Given the description of an element on the screen output the (x, y) to click on. 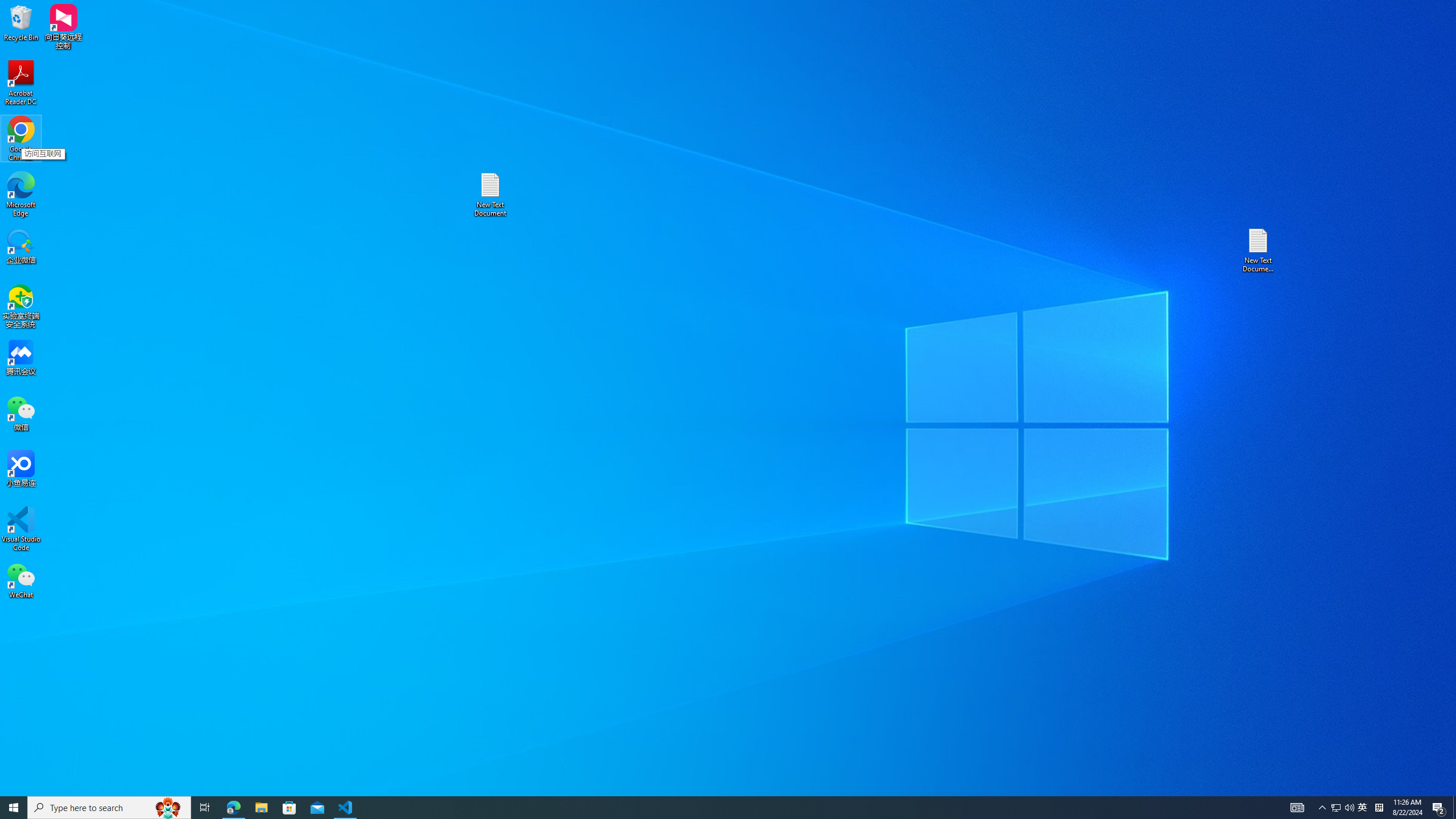
Task View (204, 807)
User Promoted Notification Area (1342, 807)
